Given the description of an element on the screen output the (x, y) to click on. 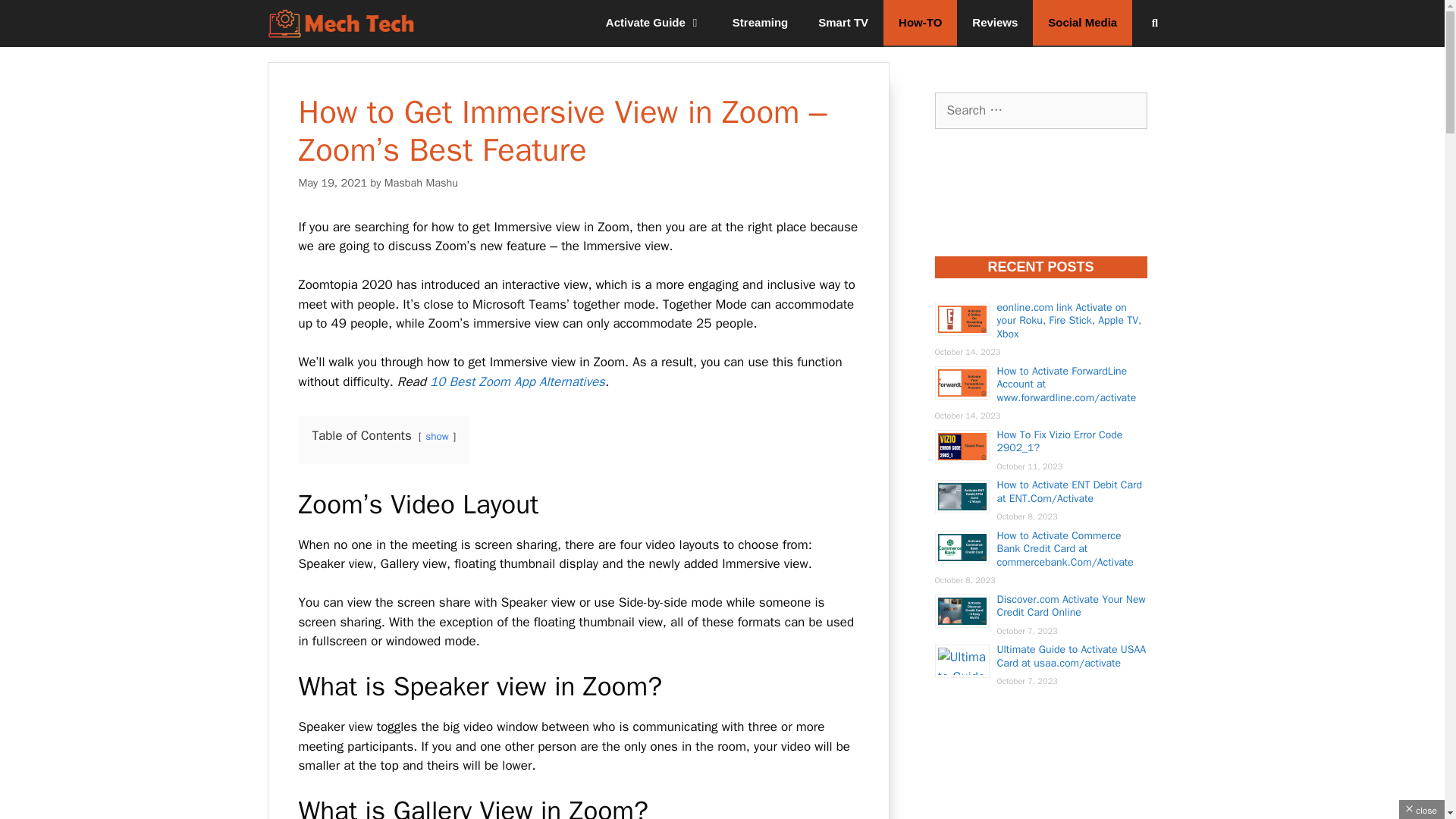
How-TO (919, 23)
Masbah Mashu (421, 182)
Mech Tech (344, 22)
show (436, 436)
Search for: (1040, 110)
Social Media (1082, 23)
Streaming (760, 22)
Mech Tech (340, 22)
View all posts by Masbah Mashu (421, 182)
Activate Guide (654, 22)
10 Best Zoom App Alternatives (517, 381)
Smart TV (843, 22)
Reviews (994, 22)
